Given the description of an element on the screen output the (x, y) to click on. 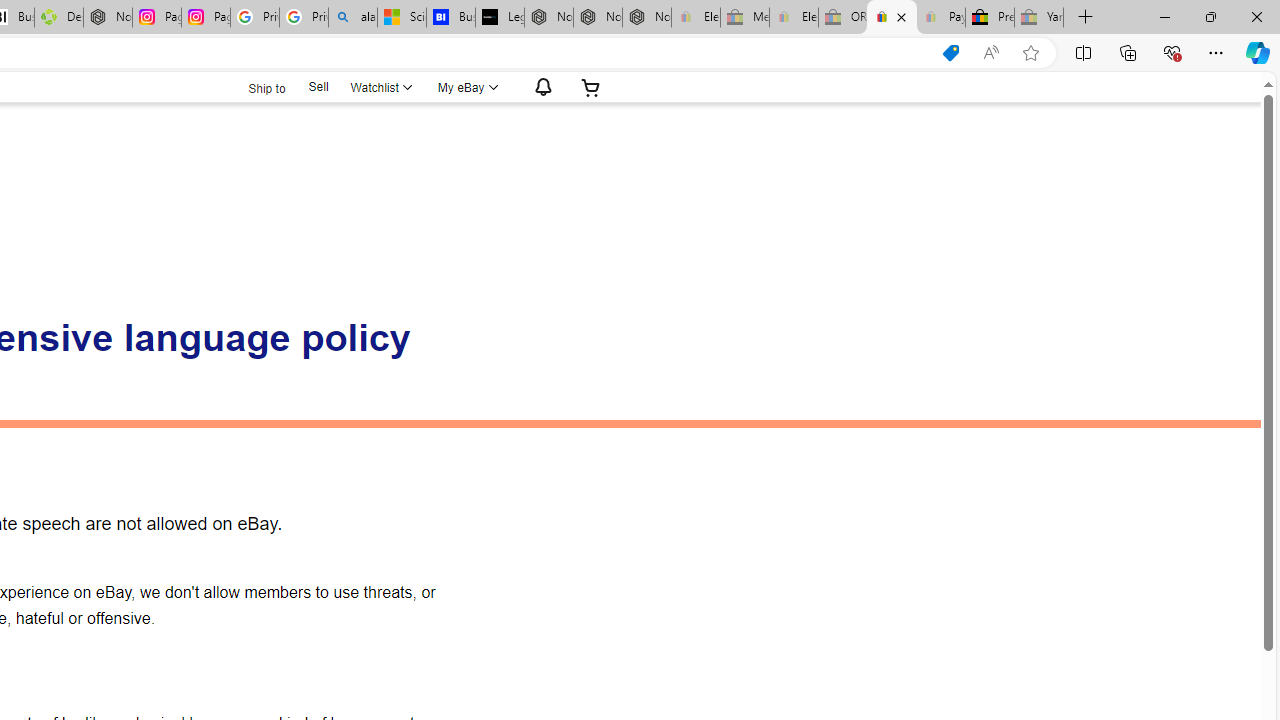
WatchlistExpand Watch List (380, 87)
